Given the description of an element on the screen output the (x, y) to click on. 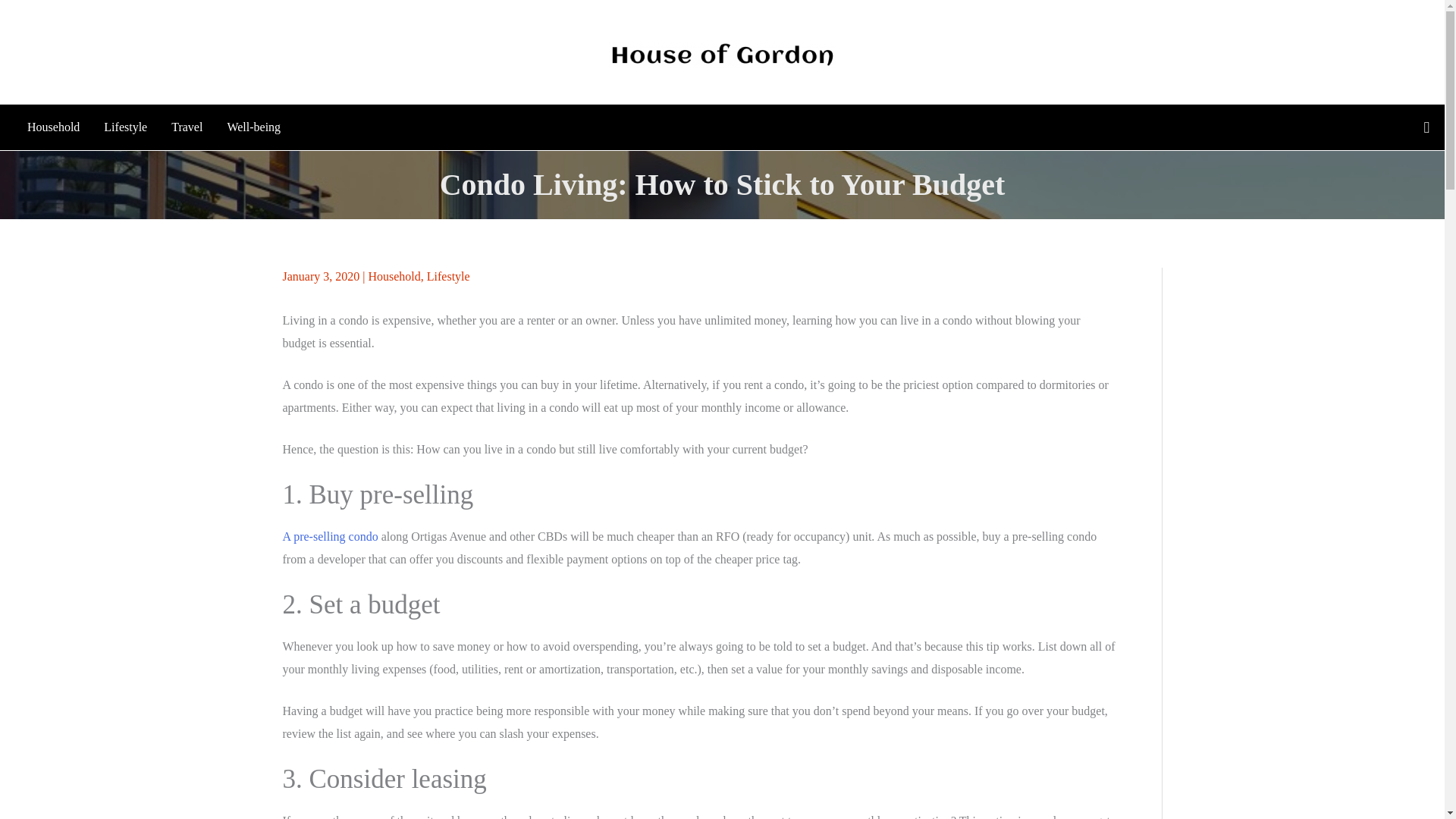
A pre-selling condo (329, 535)
Lifestyle (448, 276)
Household (52, 126)
Well-being (253, 126)
Household (394, 276)
Travel (186, 126)
Lifestyle (124, 126)
